Given the description of an element on the screen output the (x, y) to click on. 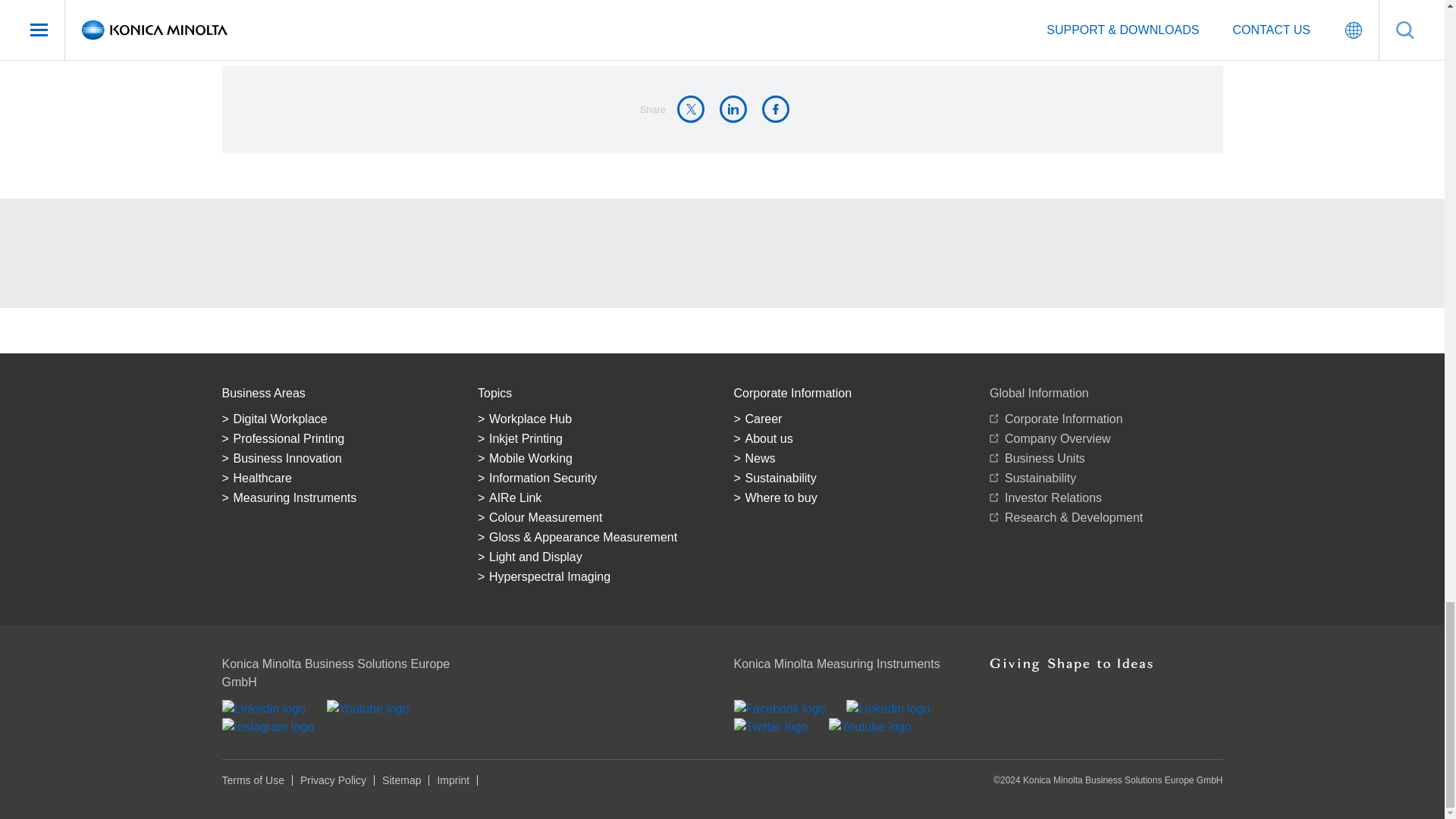
News (850, 458)
Professional Printing (337, 438)
AIRe Link (594, 497)
About us (850, 438)
Information Security (594, 478)
Light and Display (594, 557)
Measuring Instruments (337, 497)
Career (850, 419)
Workplace Hub (594, 419)
Sustainability (850, 478)
